Given the description of an element on the screen output the (x, y) to click on. 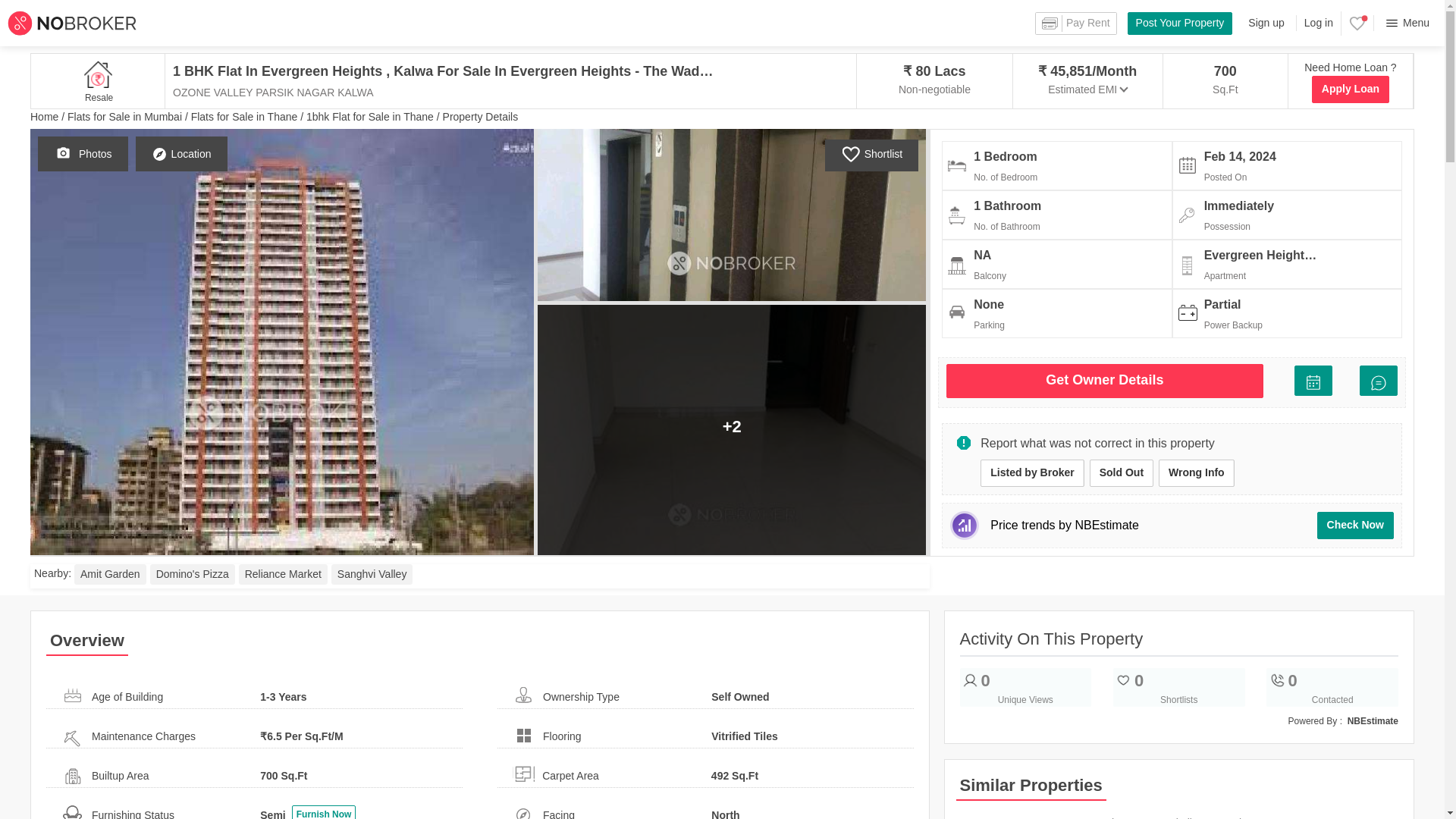
Listed by Broker (1031, 472)
Amit Garden (110, 574)
Check Now (1355, 524)
Reliance Market (282, 574)
Sanghvi Valley (372, 574)
Get Owner Details (1104, 380)
Apply Loan (1350, 89)
Wrong Info (477, 576)
Furnish Now (1196, 472)
Domino'S Pizza (324, 812)
Sold Out (191, 574)
Post Your Property (1121, 472)
